Given the description of an element on the screen output the (x, y) to click on. 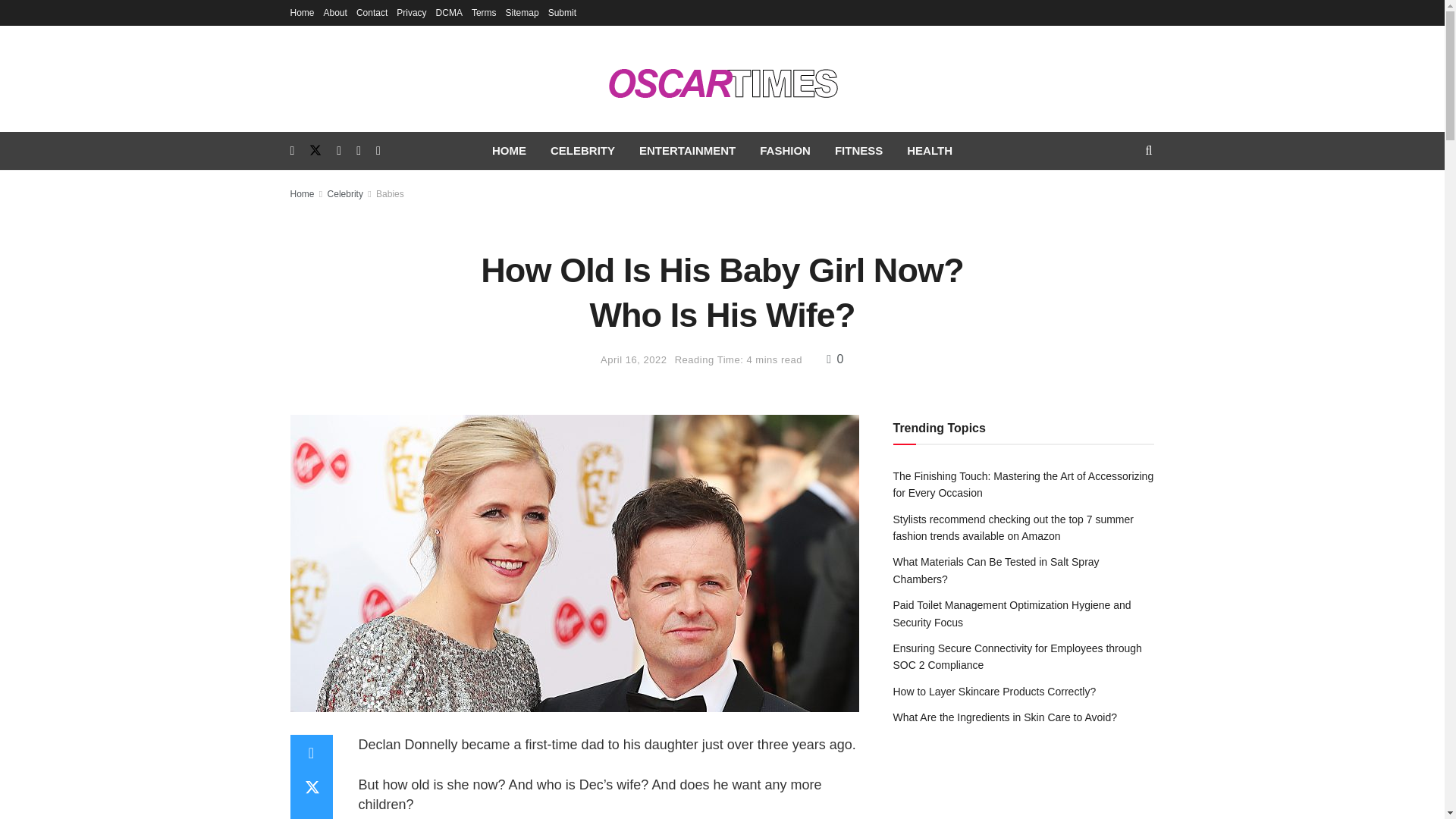
FASHION (785, 150)
CELEBRITY (582, 150)
Home (301, 194)
Sitemap (521, 12)
HOME (509, 150)
ENTERTAINMENT (687, 150)
FITNESS (858, 150)
HEALTH (929, 150)
0 (835, 358)
Contact (371, 12)
DCMA (449, 12)
Home (301, 12)
Celebrity (344, 194)
Terms (483, 12)
Submit (562, 12)
